Given the description of an element on the screen output the (x, y) to click on. 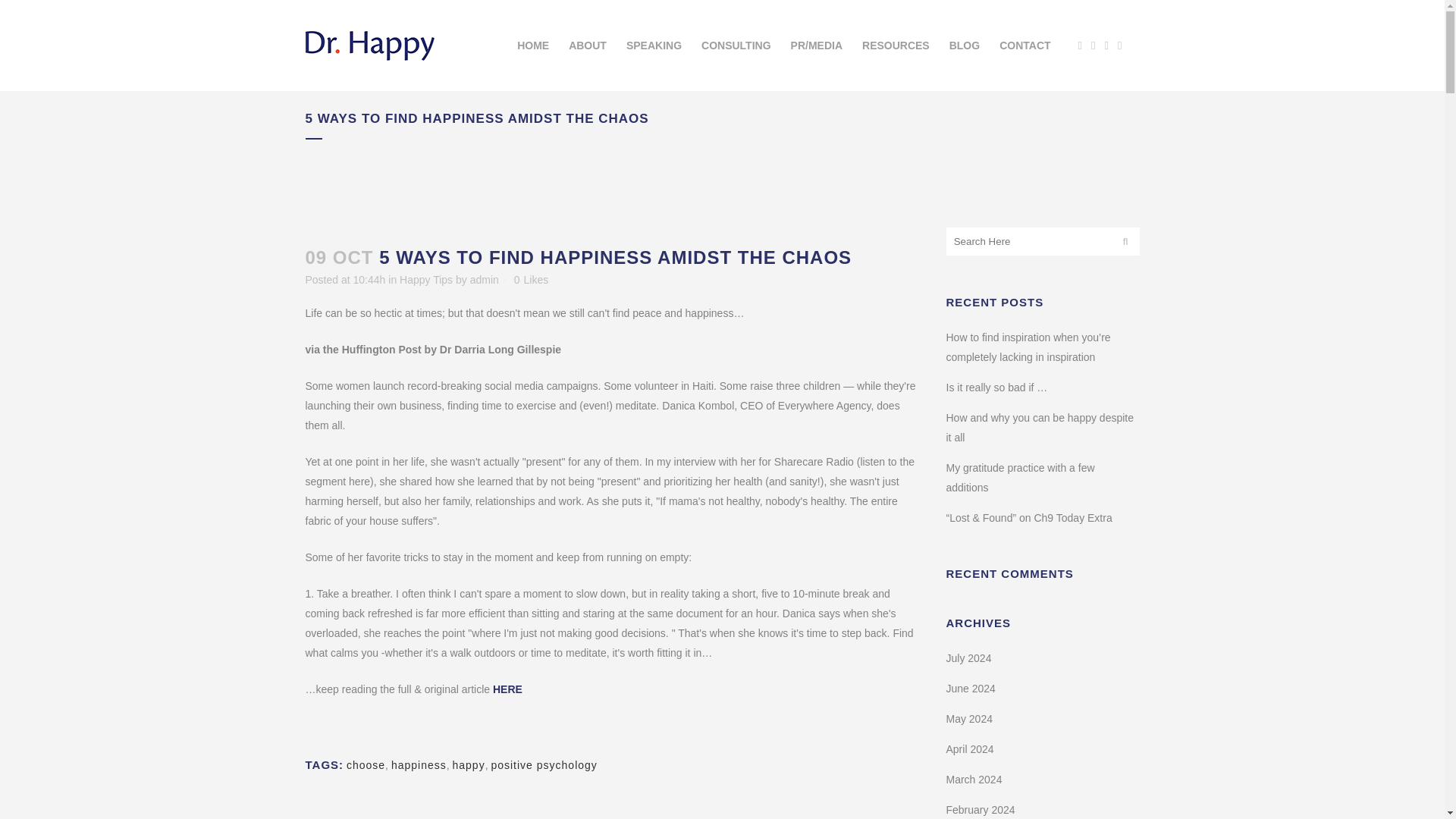
April 2024 (970, 748)
happiness (418, 765)
CONSULTING (735, 45)
RESOURCES (895, 45)
May 2024 (969, 718)
choose (365, 765)
July 2024 (968, 657)
Happy Tips (425, 279)
positive psychology (543, 765)
My gratitude practice with a few additions (1020, 477)
HERE (507, 689)
happy (467, 765)
0 Likes (530, 279)
Like this (530, 279)
How and why you can be happy despite it all (1040, 427)
